Given the description of an element on the screen output the (x, y) to click on. 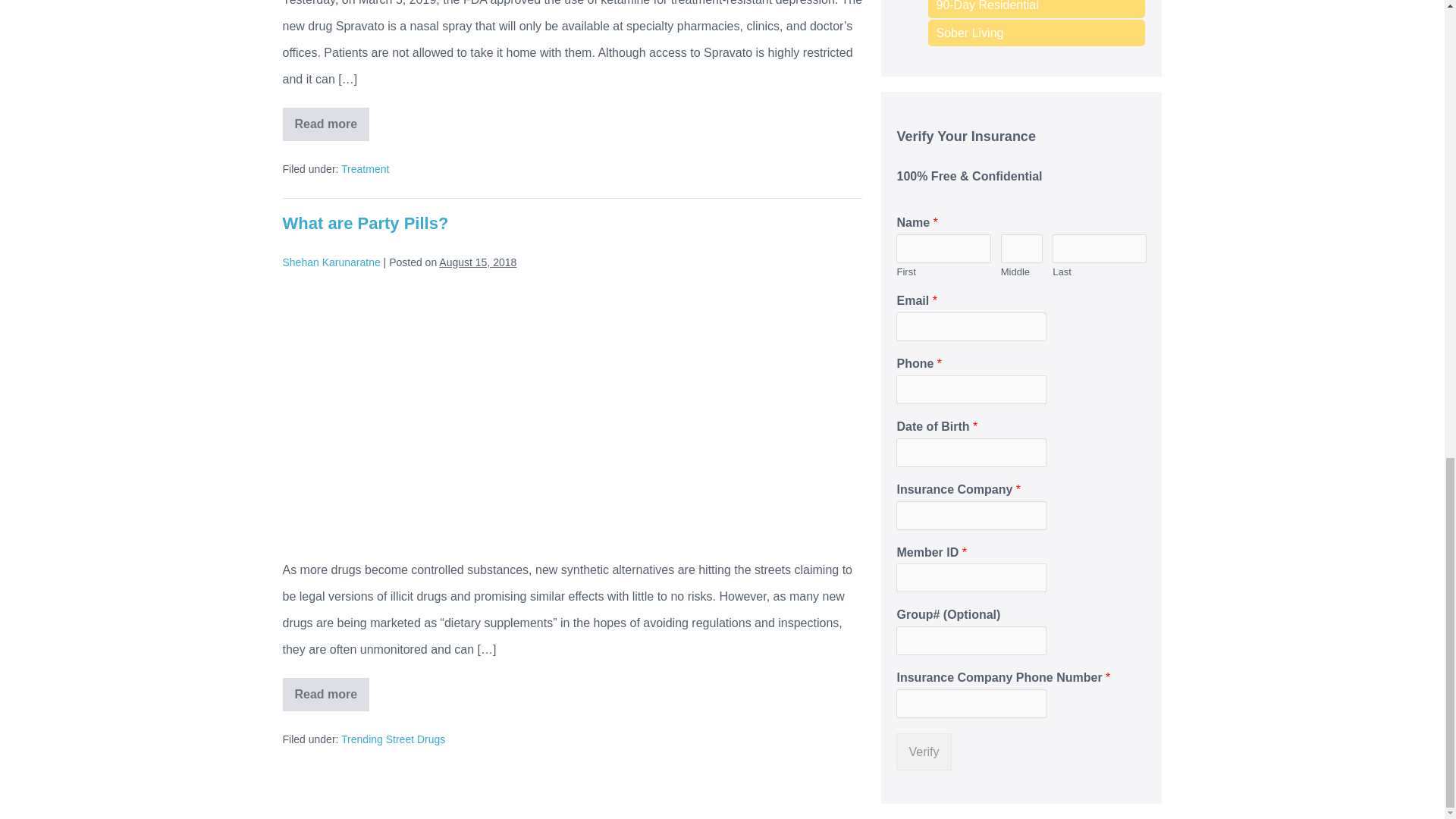
View all posts by Shehan Karunaratne (331, 262)
What are Party Pills? (365, 222)
